Given the description of an element on the screen output the (x, y) to click on. 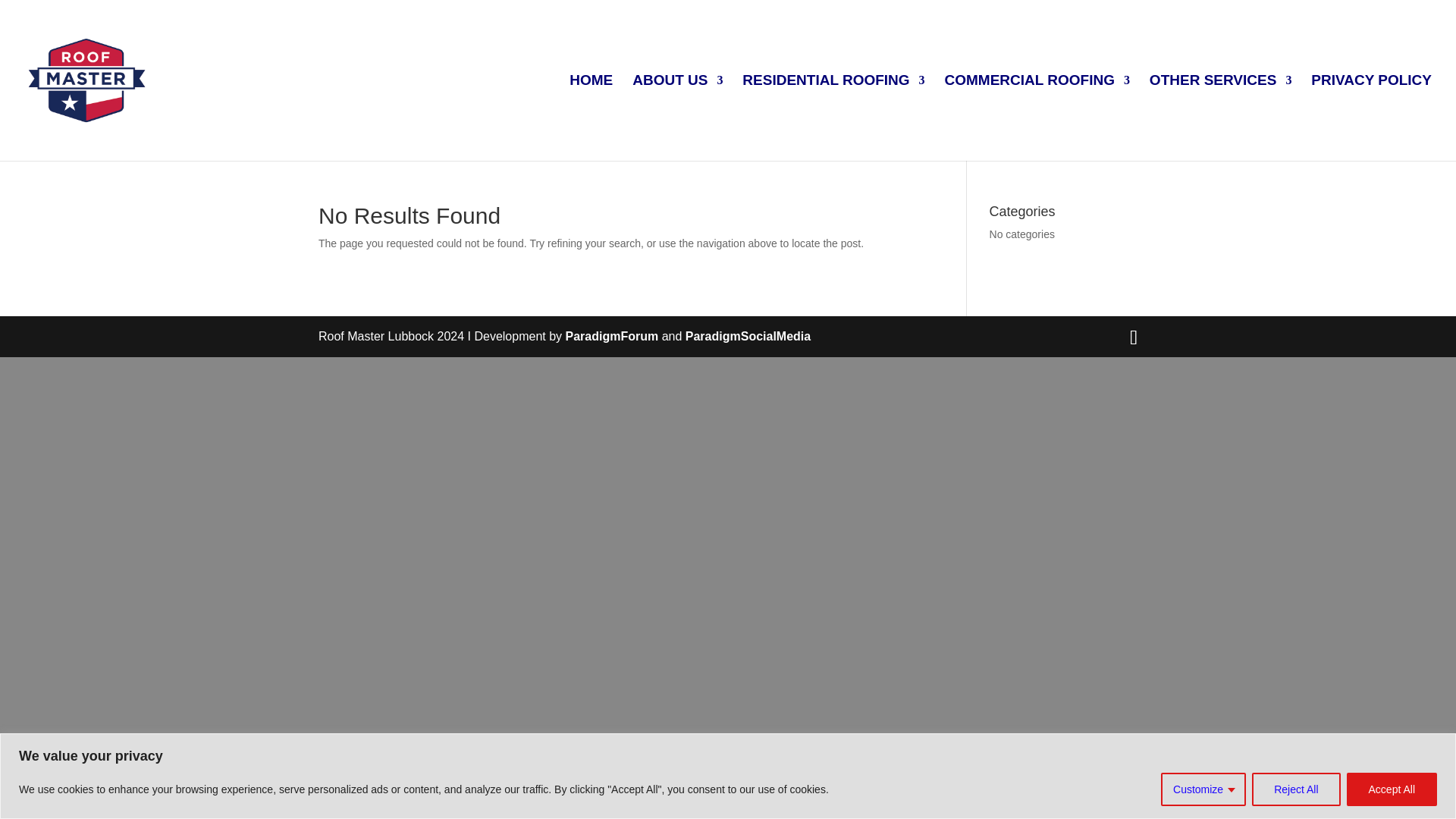
ABOUT US (676, 117)
RESIDENTIAL ROOFING (833, 117)
COMMERCIAL ROOFING (1036, 117)
